Given the description of an element on the screen output the (x, y) to click on. 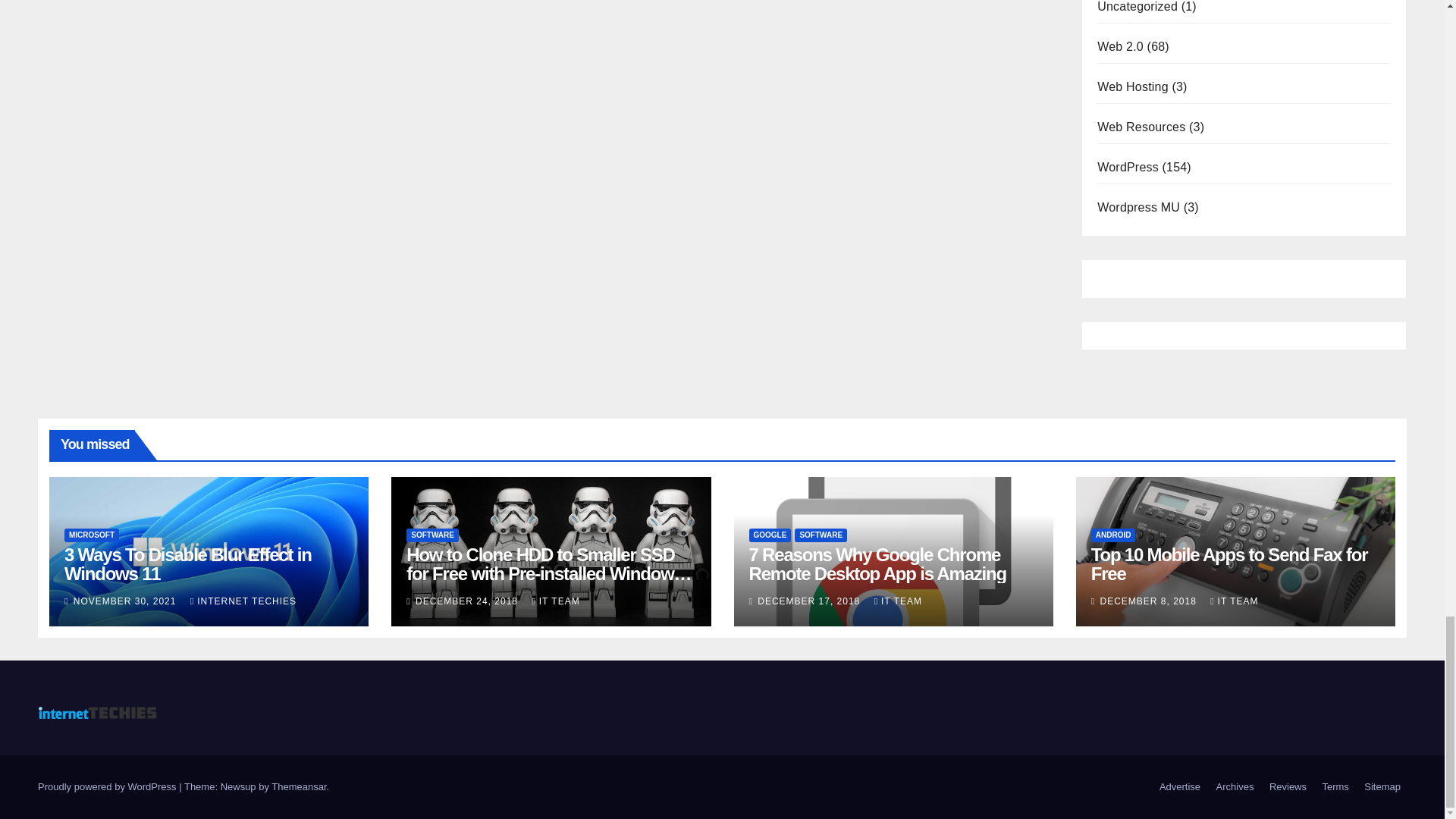
Permalink to: 3 Ways To Disable Blur Effect in Windows 11 (187, 563)
